Given the description of an element on the screen output the (x, y) to click on. 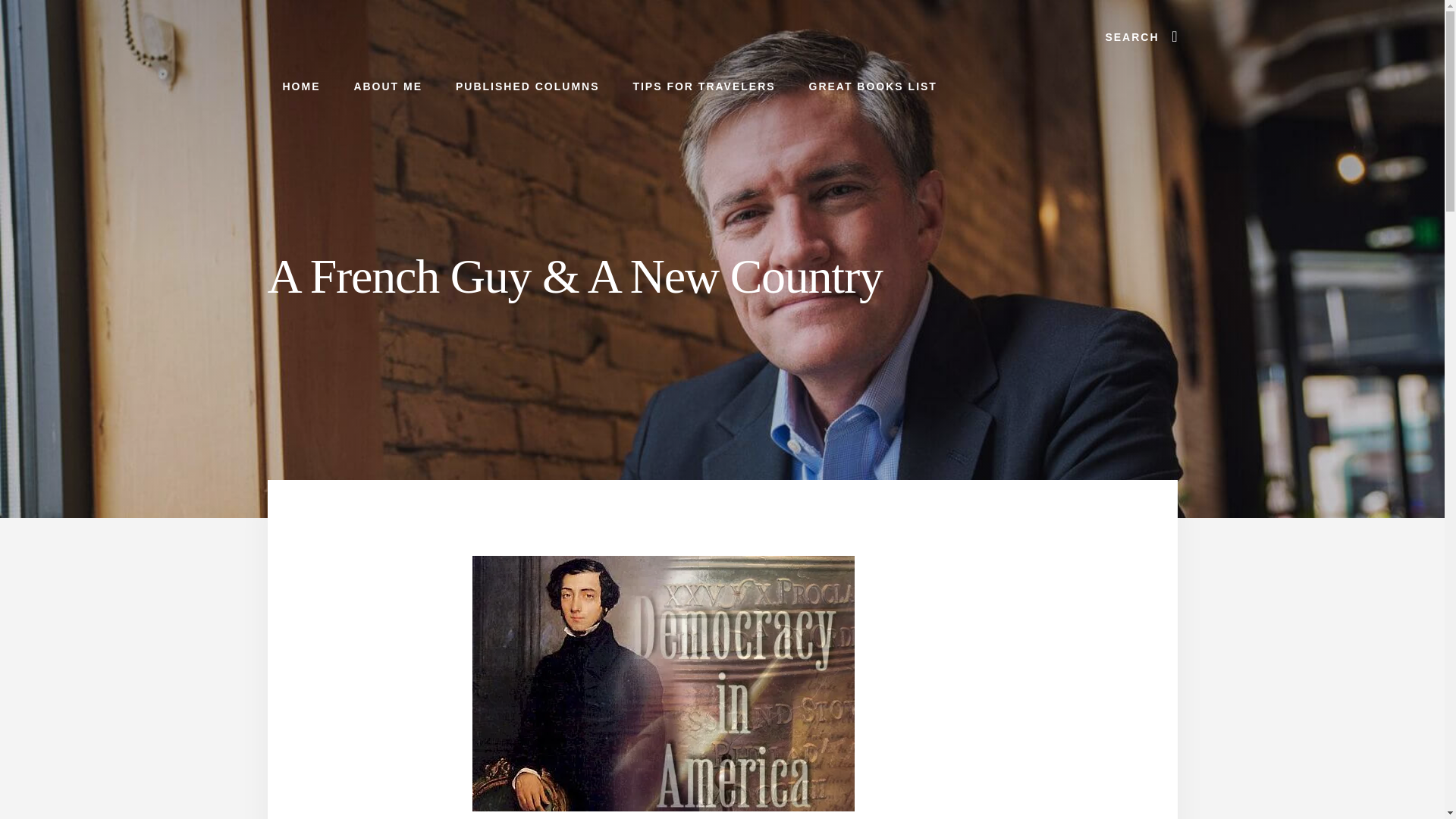
PUBLISHED COLUMNS (527, 86)
ABOUT ME (387, 86)
TIPS FOR TRAVELERS (703, 86)
HOME (300, 86)
de-tocqueville (662, 683)
GREAT BOOKS LIST (872, 86)
